Given the description of an element on the screen output the (x, y) to click on. 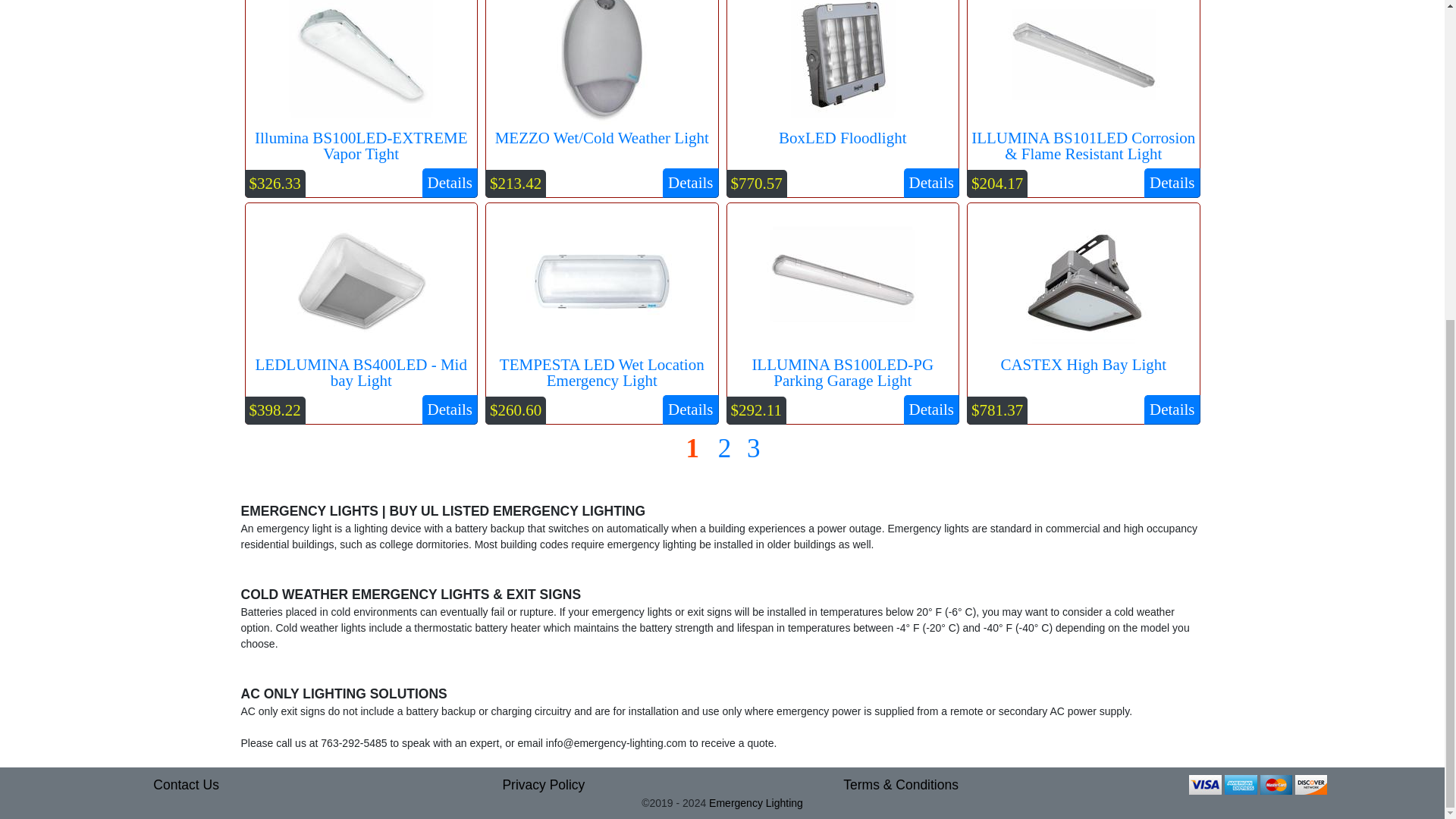
Details (931, 409)
Details (689, 183)
Details (1171, 409)
Details (689, 409)
Details (1171, 183)
Details (449, 183)
Details (931, 183)
Details (449, 409)
